Given the description of an element on the screen output the (x, y) to click on. 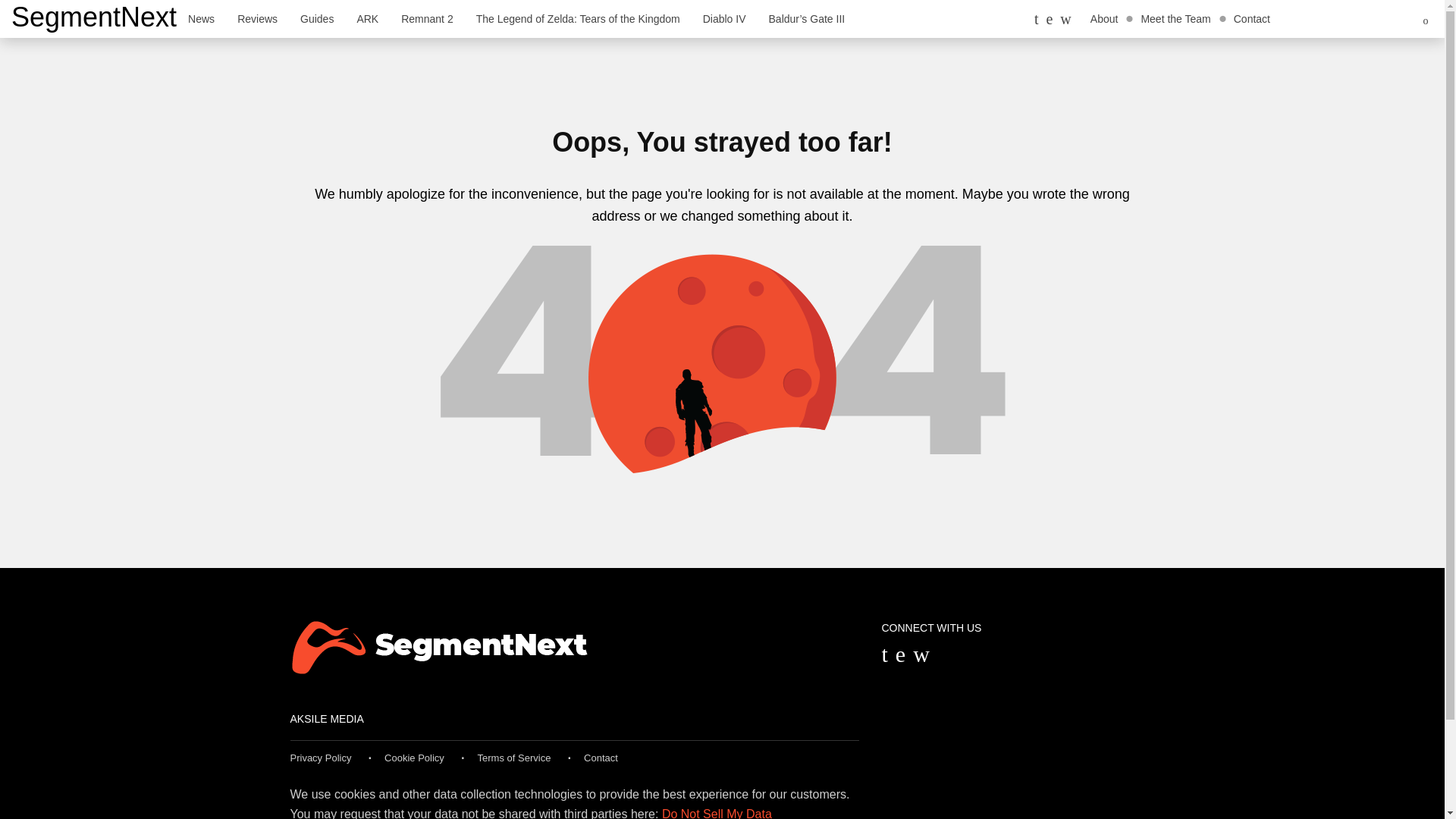
News (200, 18)
Remnant 2 (427, 18)
Contact (600, 757)
Meet the Team (1175, 18)
Remnant 2 (427, 18)
About (1103, 18)
Reviews (256, 18)
ARK (367, 18)
The Legend of Zelda: Tears of the Kingdom (577, 18)
Diablo IV (724, 18)
Guides (316, 18)
Contact (1252, 18)
Baldur's Gate III (807, 18)
Cookie Policy (414, 757)
ARK (367, 18)
